Given the description of an element on the screen output the (x, y) to click on. 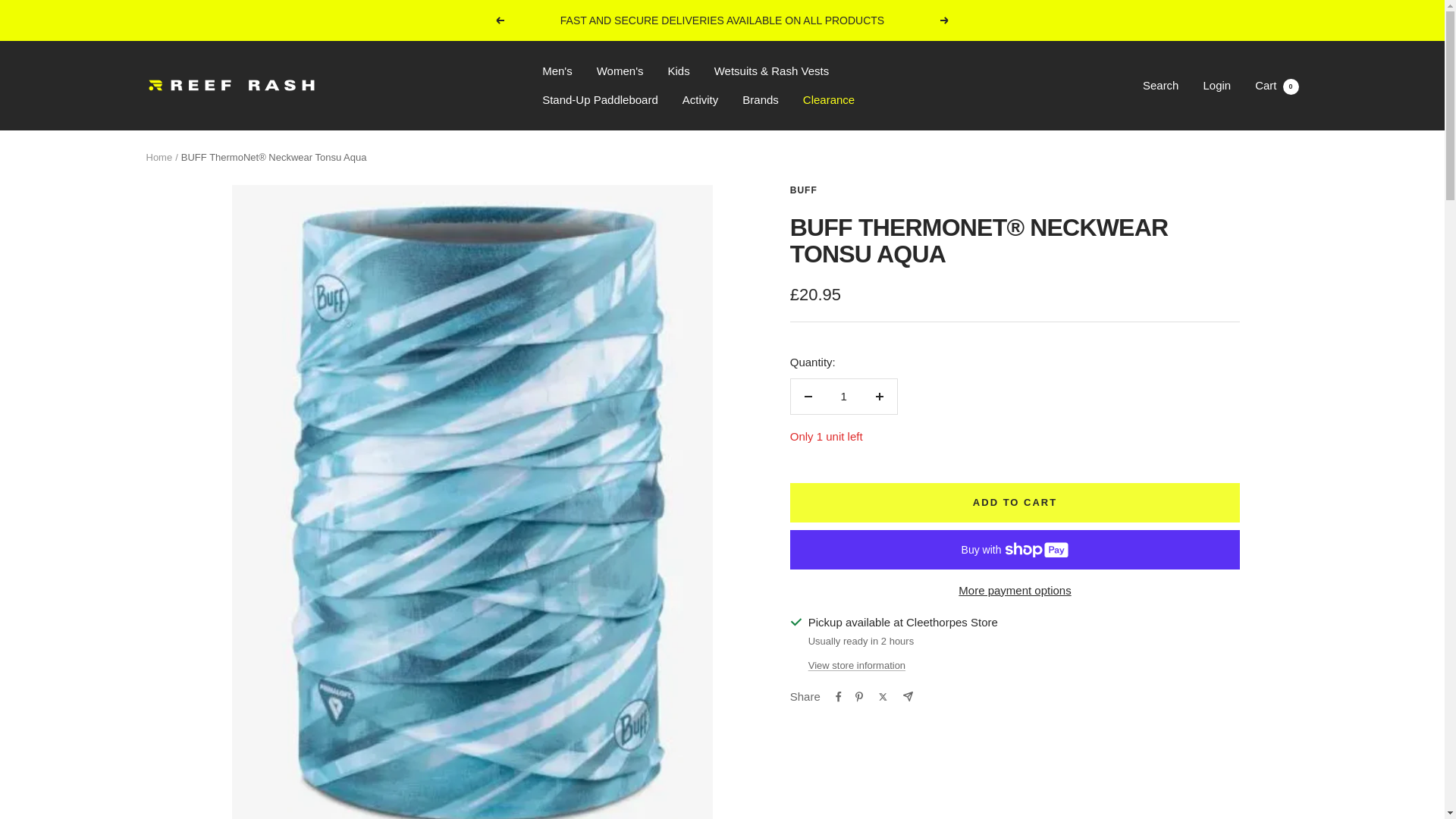
Reef Rash (230, 85)
Home (158, 156)
Stand-Up Paddleboard (599, 99)
Search (1160, 84)
Women's (619, 71)
Men's (556, 71)
Clearance (828, 99)
Brands (760, 99)
Kids (677, 71)
Login (1216, 84)
